Given the description of an element on the screen output the (x, y) to click on. 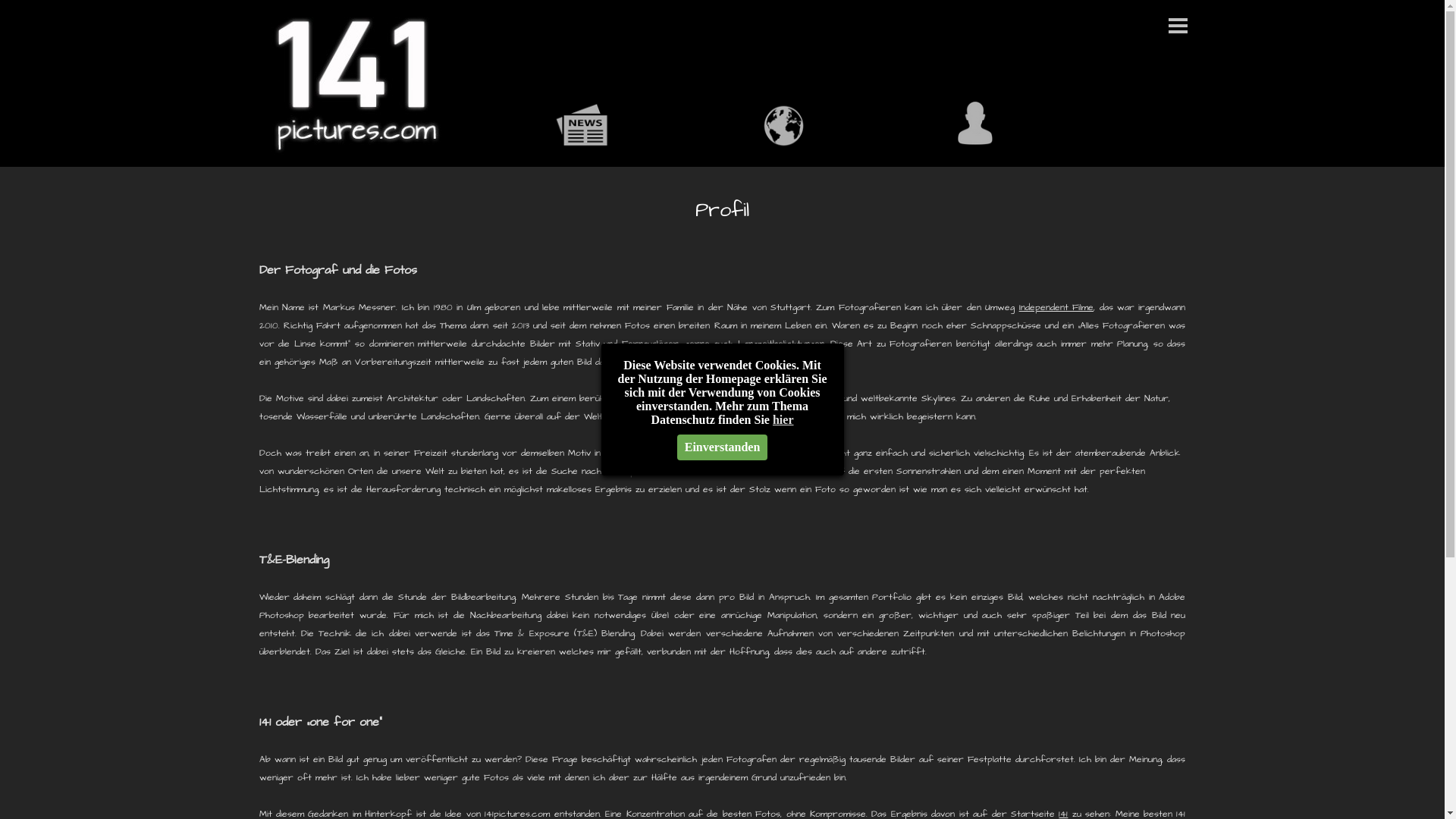
Independent Filme Element type: text (1056, 307)
hier Element type: text (782, 419)
